Given the description of an element on the screen output the (x, y) to click on. 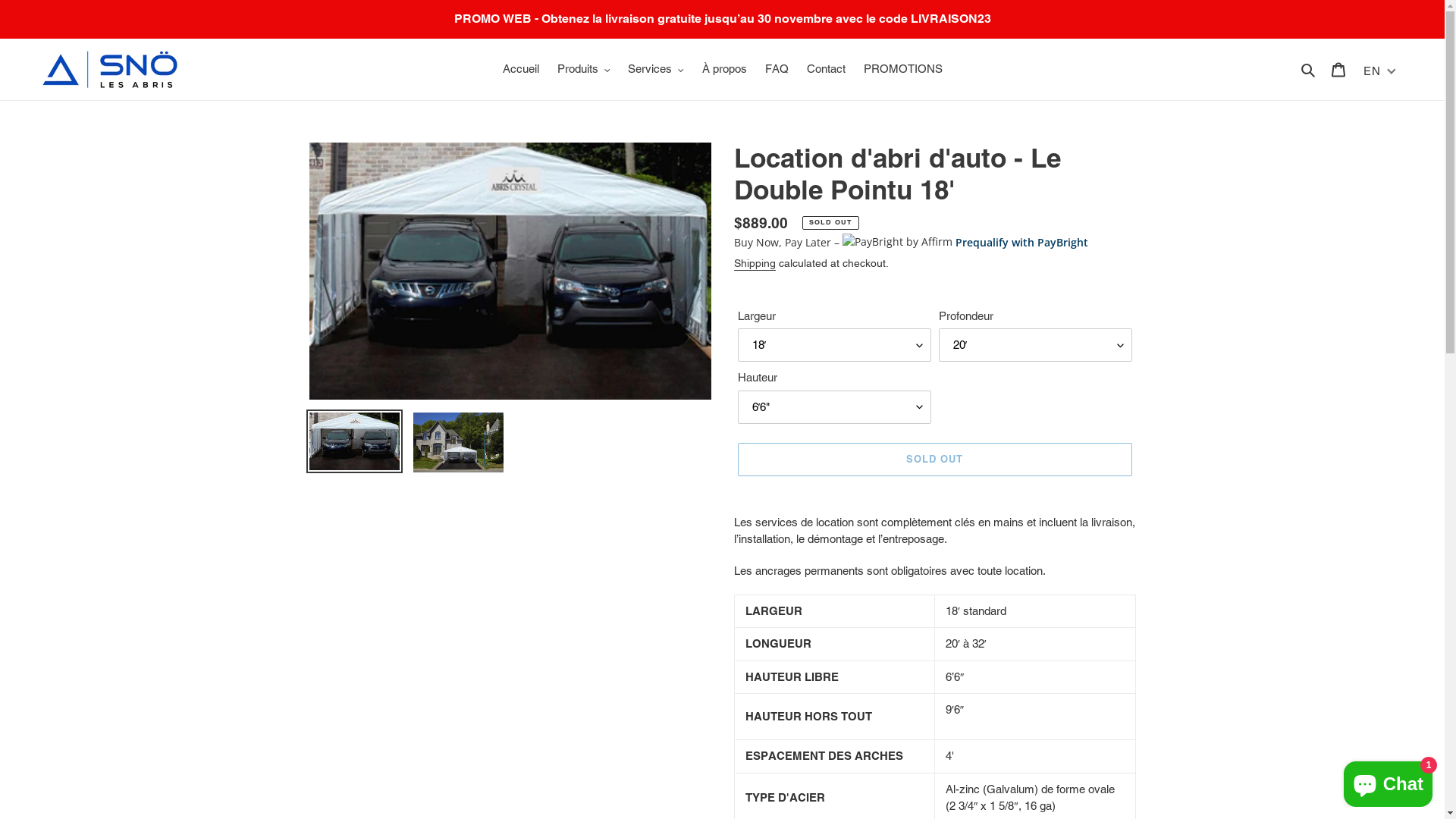
Accueil Element type: text (520, 69)
Prequalify with PayBright Element type: text (1021, 242)
SOLD OUT Element type: text (934, 459)
PROMOTIONS Element type: text (902, 69)
Contact Element type: text (826, 69)
FAQ Element type: text (775, 69)
Services Element type: text (655, 69)
Cart Element type: text (1338, 69)
Shipping Element type: text (754, 263)
Shopify online store chat Element type: hover (1388, 780)
Search Element type: text (1308, 68)
Produits Element type: text (583, 69)
